Given the description of an element on the screen output the (x, y) to click on. 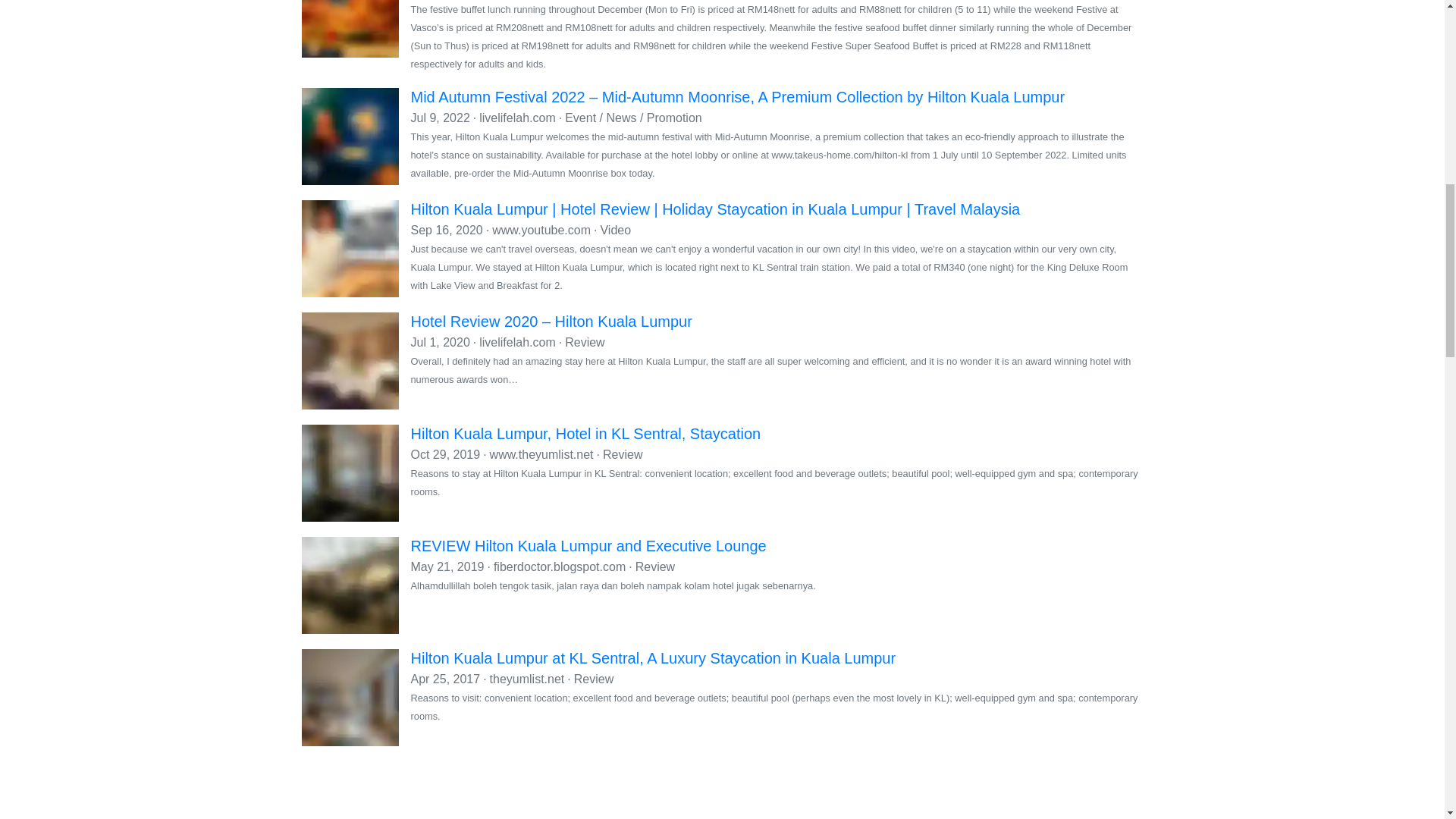
Hilton Kuala Lumpur, Hotel in KL Sentral, Staycation (585, 433)
REVIEW Hilton Kuala Lumpur and Executive Lounge (588, 545)
